Given the description of an element on the screen output the (x, y) to click on. 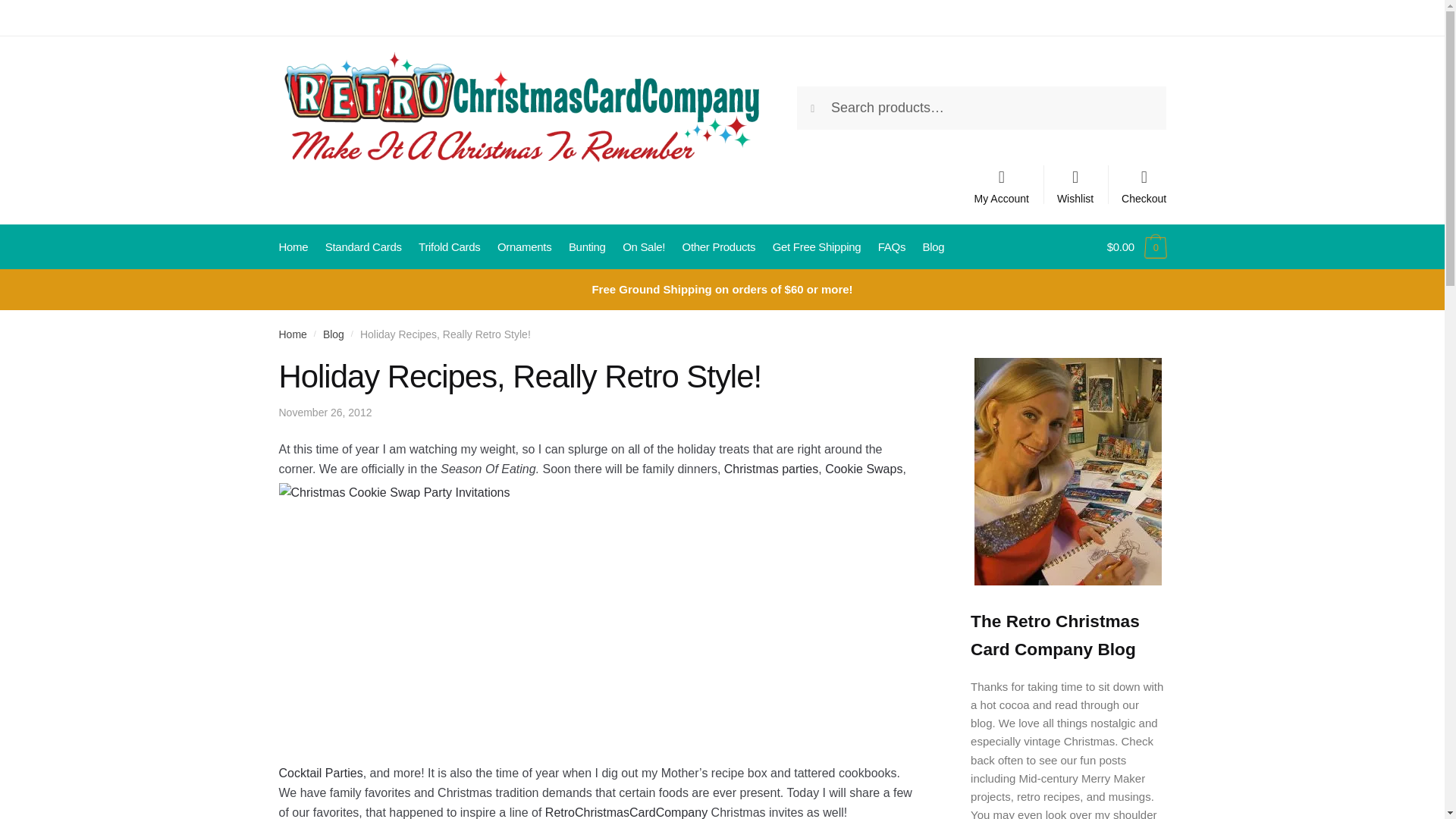
Blog (333, 334)
View your shopping cart (1136, 247)
Bunting (586, 247)
Cocktail Parties (320, 772)
FAQs (890, 247)
Cookie Swaps (863, 468)
Ornaments (524, 247)
Other Products (718, 247)
Contact Us (305, 17)
Christmas parties (770, 468)
